Given the description of an element on the screen output the (x, y) to click on. 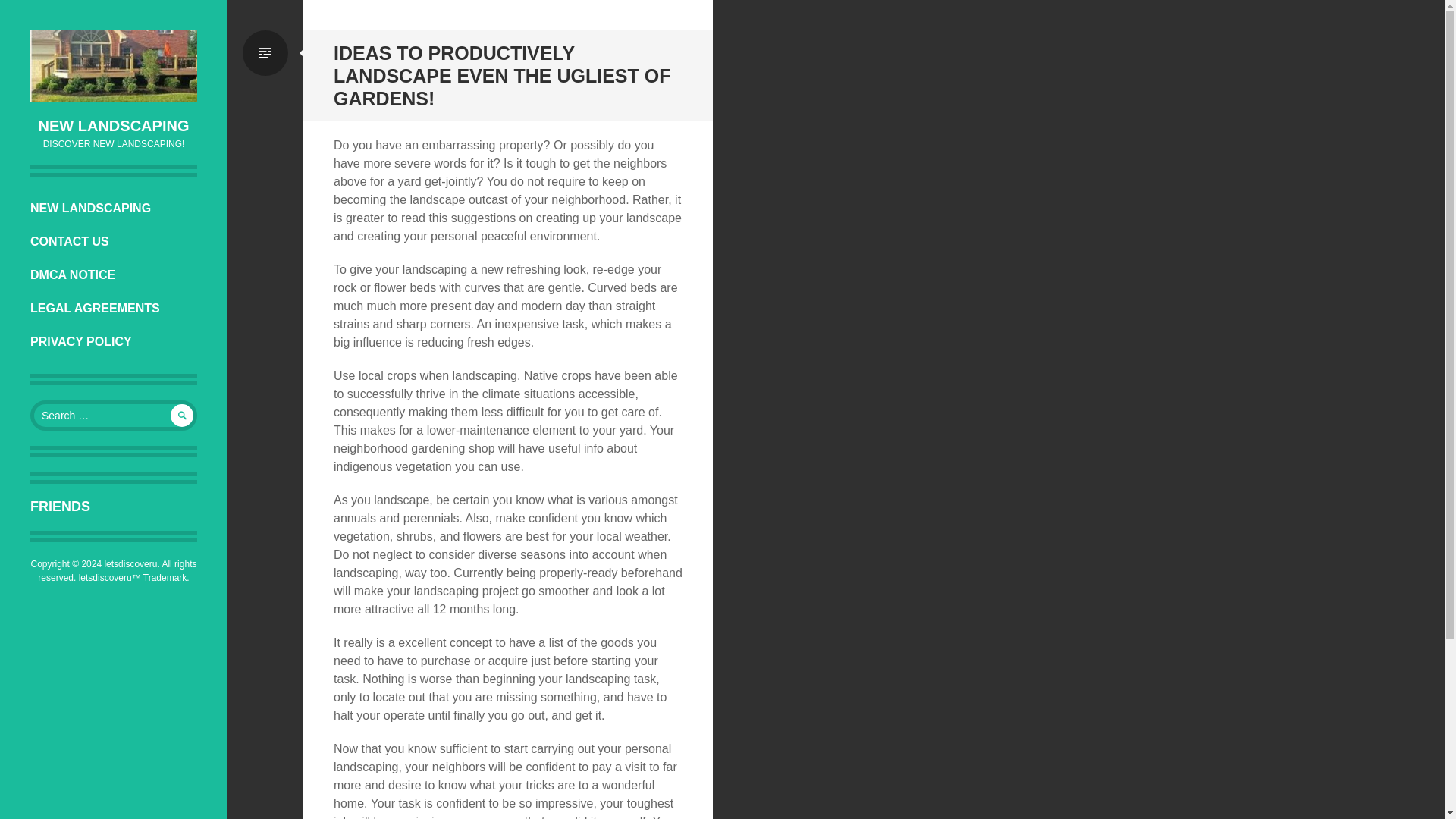
Search for: (113, 415)
NEW LANDSCAPING (113, 208)
New Landscaping (113, 65)
New Landscaping (114, 126)
LEGAL AGREEMENTS (113, 308)
CONTACT US (113, 241)
PRIVACY POLICY (113, 341)
DMCA NOTICE (113, 274)
NEW LANDSCAPING (114, 126)
